Given the description of an element on the screen output the (x, y) to click on. 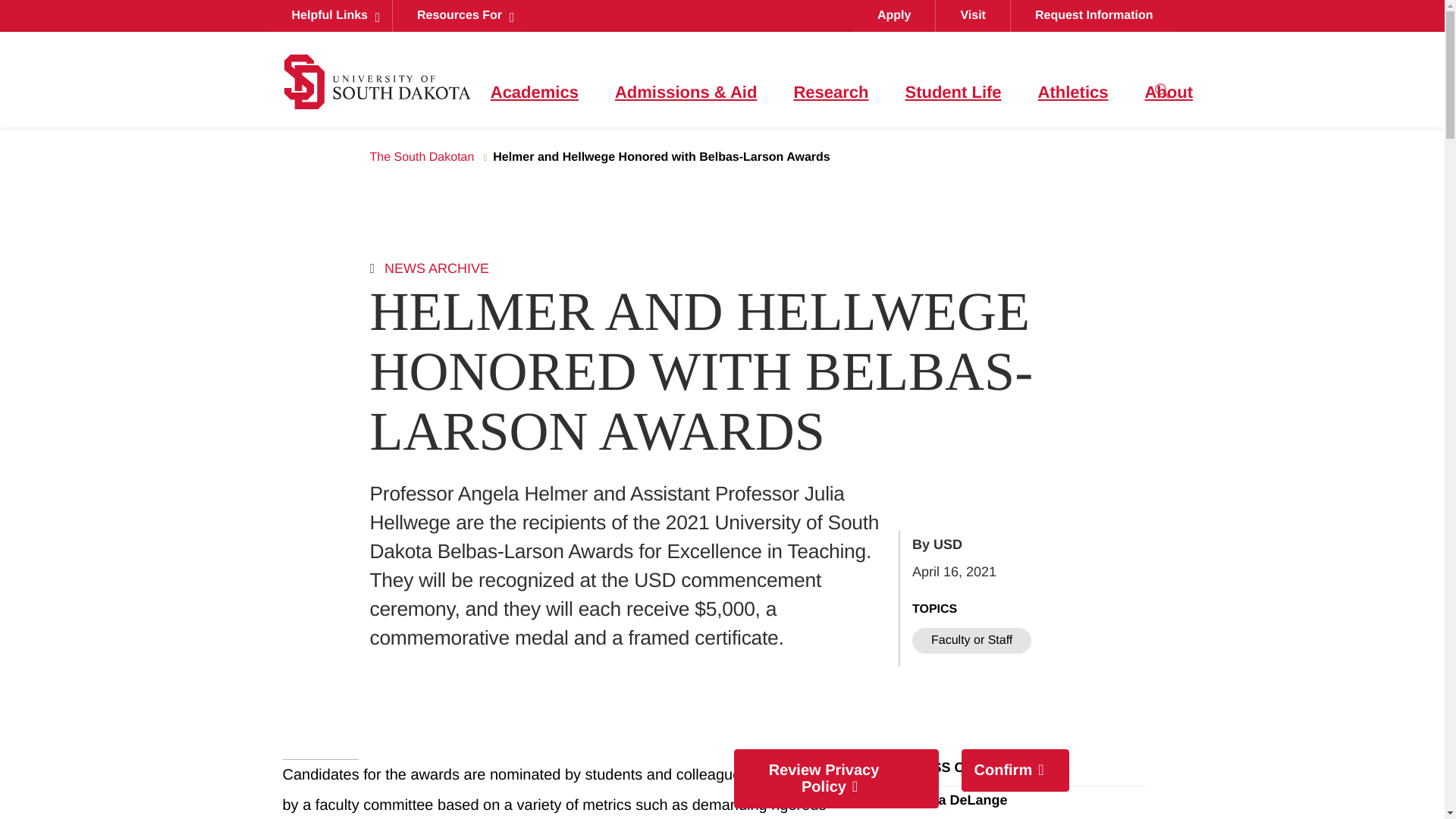
Research (830, 92)
Academics (533, 92)
Student Life (952, 92)
